Given the description of an element on the screen output the (x, y) to click on. 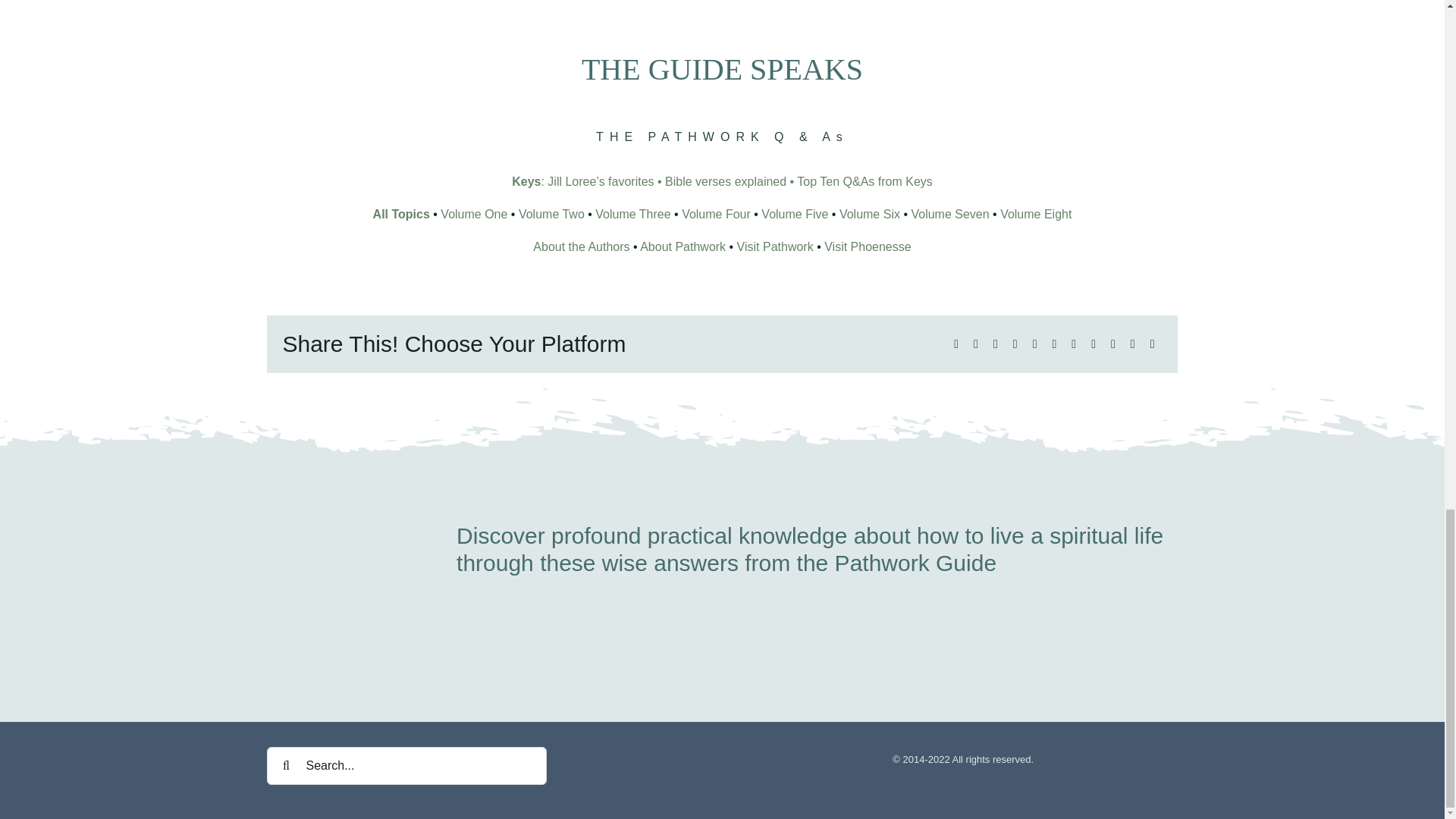
WhatsApp (1035, 343)
Email (1151, 343)
X (975, 343)
LinkedIn (1015, 343)
Reddit (995, 343)
Vk (1112, 343)
Xing (1132, 343)
Telegram (1053, 343)
Facebook (956, 343)
Tumblr (1073, 343)
